Given the description of an element on the screen output the (x, y) to click on. 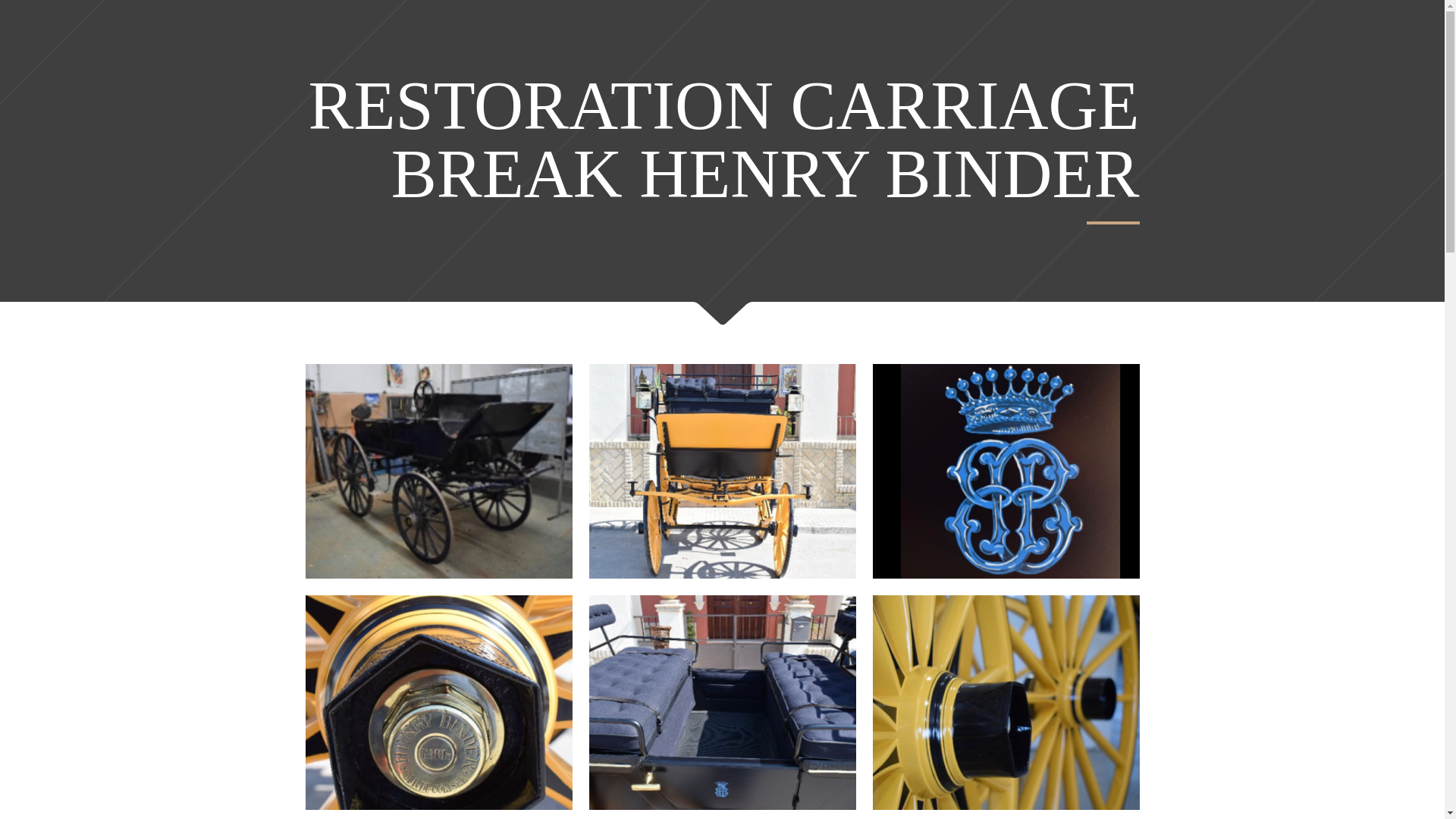
167-restoration-carriage-break-detalle-5 (1005, 470)
167-restoration-carriage-break-detalle-3 (722, 702)
167-restoration-carriage-break-detalle-6 (722, 470)
167-restoration-carriage-break-detalle-2 (1005, 702)
167-restoration-carriage-break-detail-1 (438, 470)
167-restoration-carriage-break-detalle-4 (438, 702)
